Given the description of an element on the screen output the (x, y) to click on. 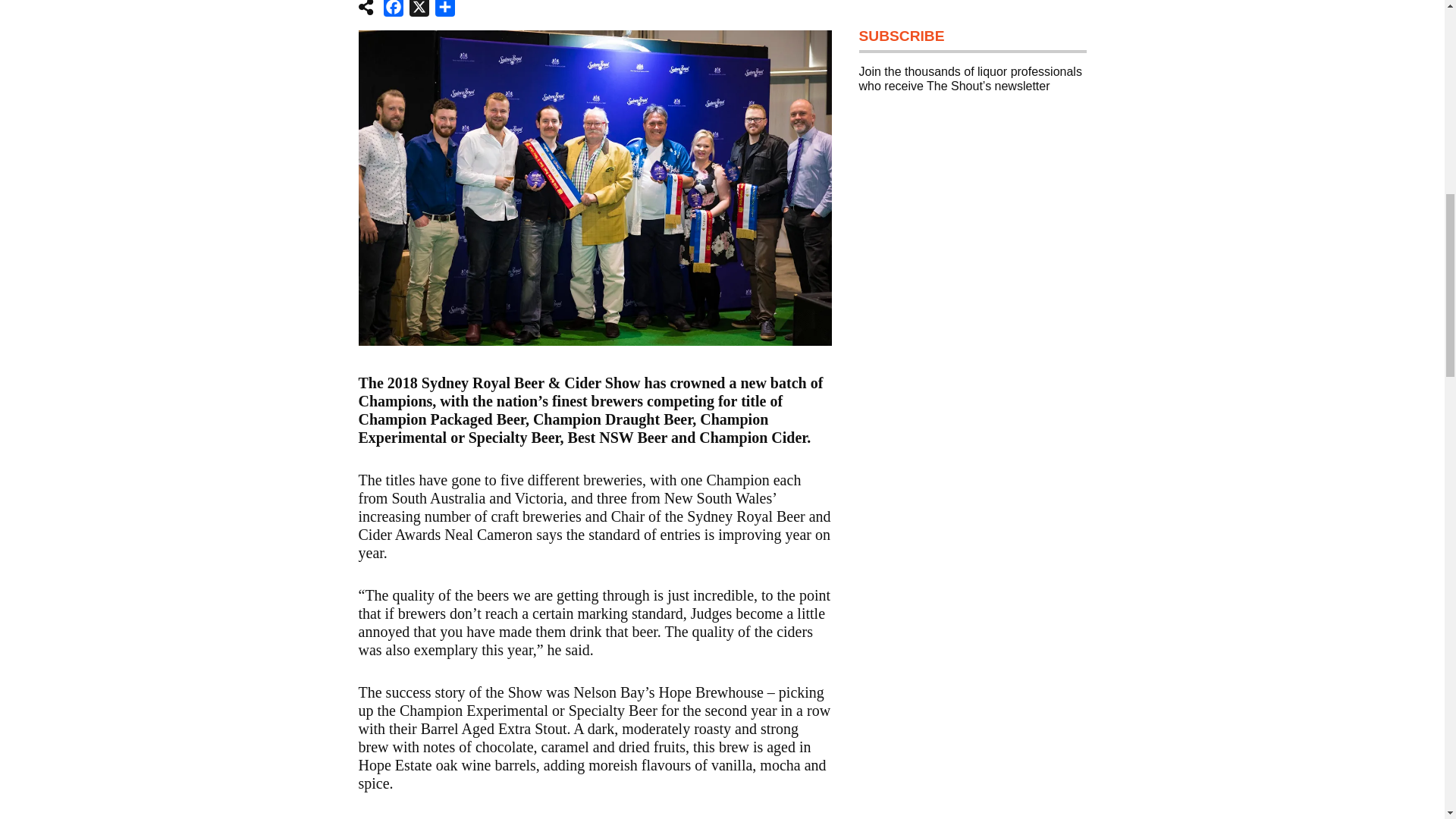
Facebook (393, 11)
Form 0 (972, 237)
3rd party ad content (972, 601)
X (419, 11)
